Given the description of an element on the screen output the (x, y) to click on. 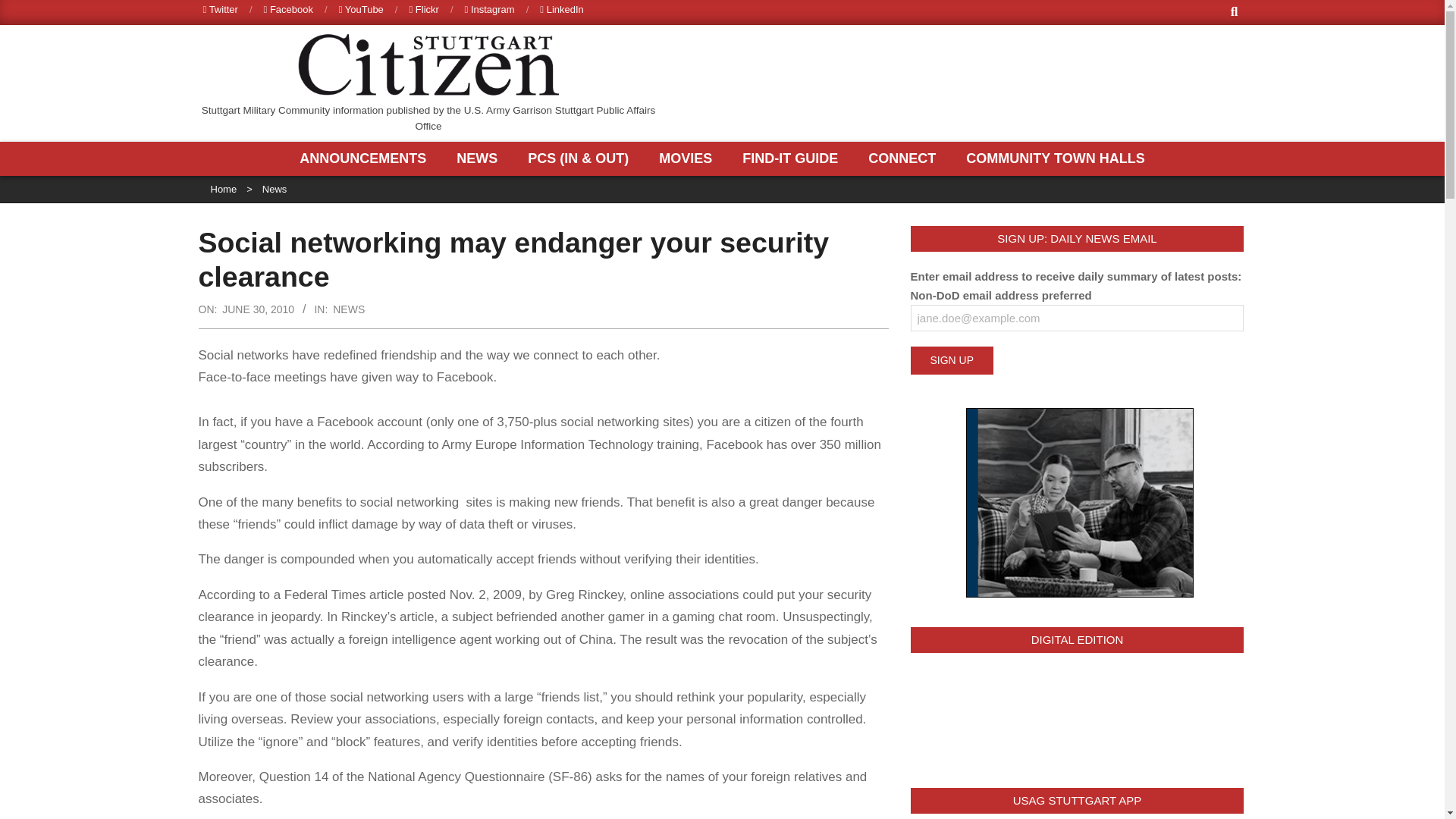
NEWS (480, 158)
YouTube (361, 9)
Flickr (423, 9)
Twitter (220, 9)
LinkedIn (561, 9)
Instagram (489, 9)
Search (24, 9)
FIND-IT GUIDE (793, 158)
MOVIES (688, 158)
Facebook (288, 9)
